Given the description of an element on the screen output the (x, y) to click on. 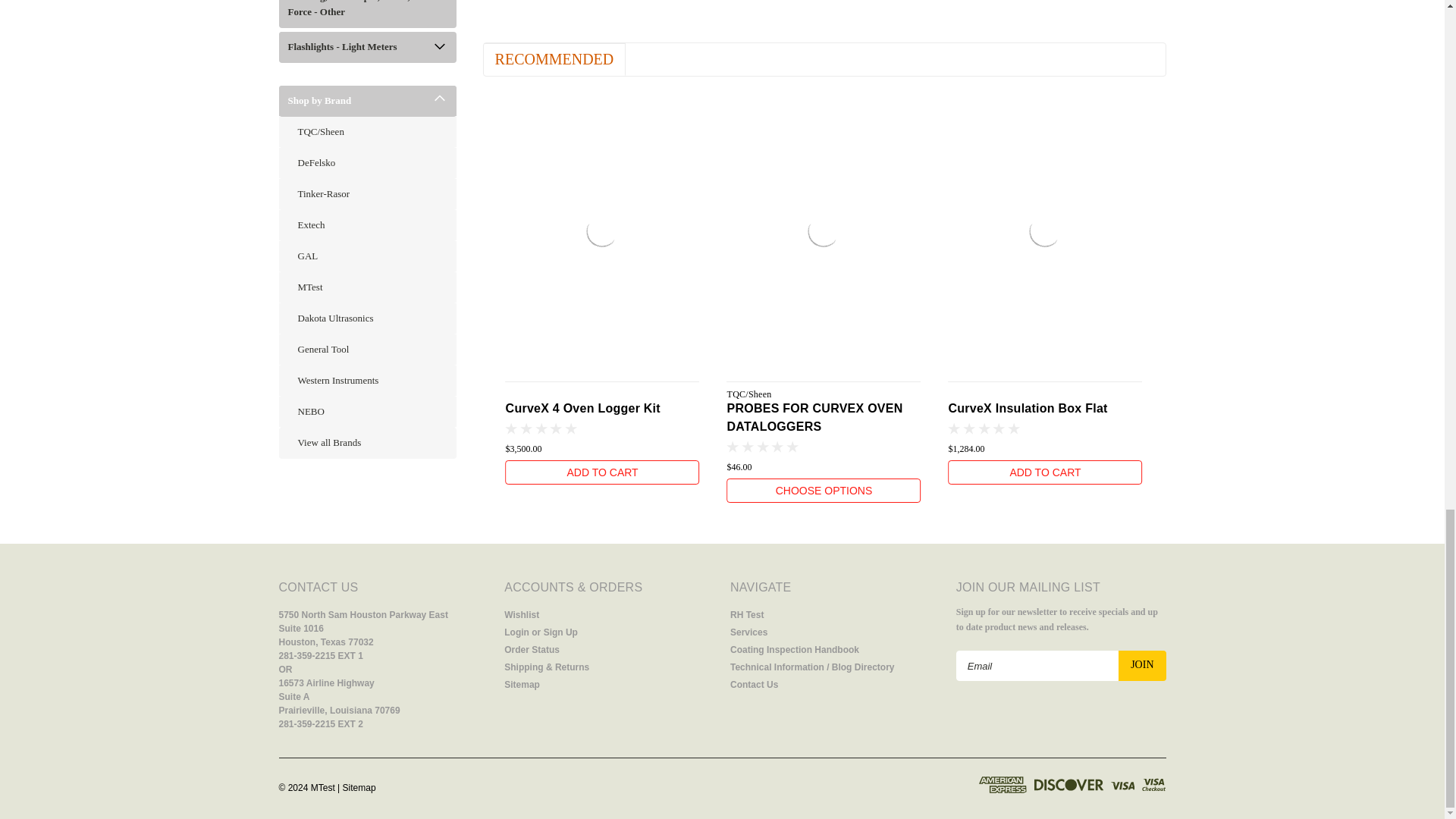
Join (1142, 665)
CurveX Insulation Box Flat (1045, 231)
PROBES FOR CURVEX OVEN DATALOGGERS (824, 231)
